Given the description of an element on the screen output the (x, y) to click on. 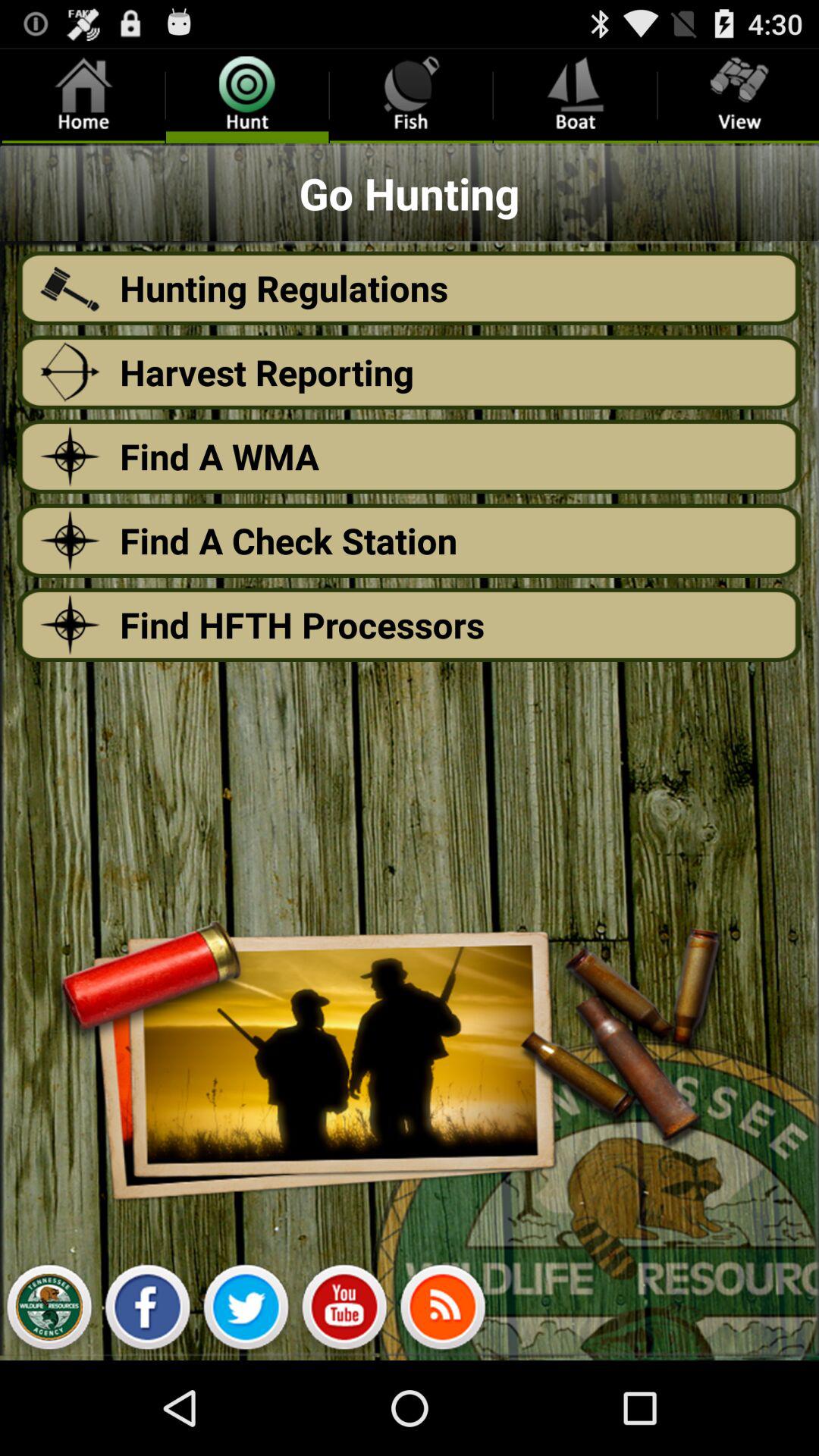
select youtube option (344, 1311)
